Given the description of an element on the screen output the (x, y) to click on. 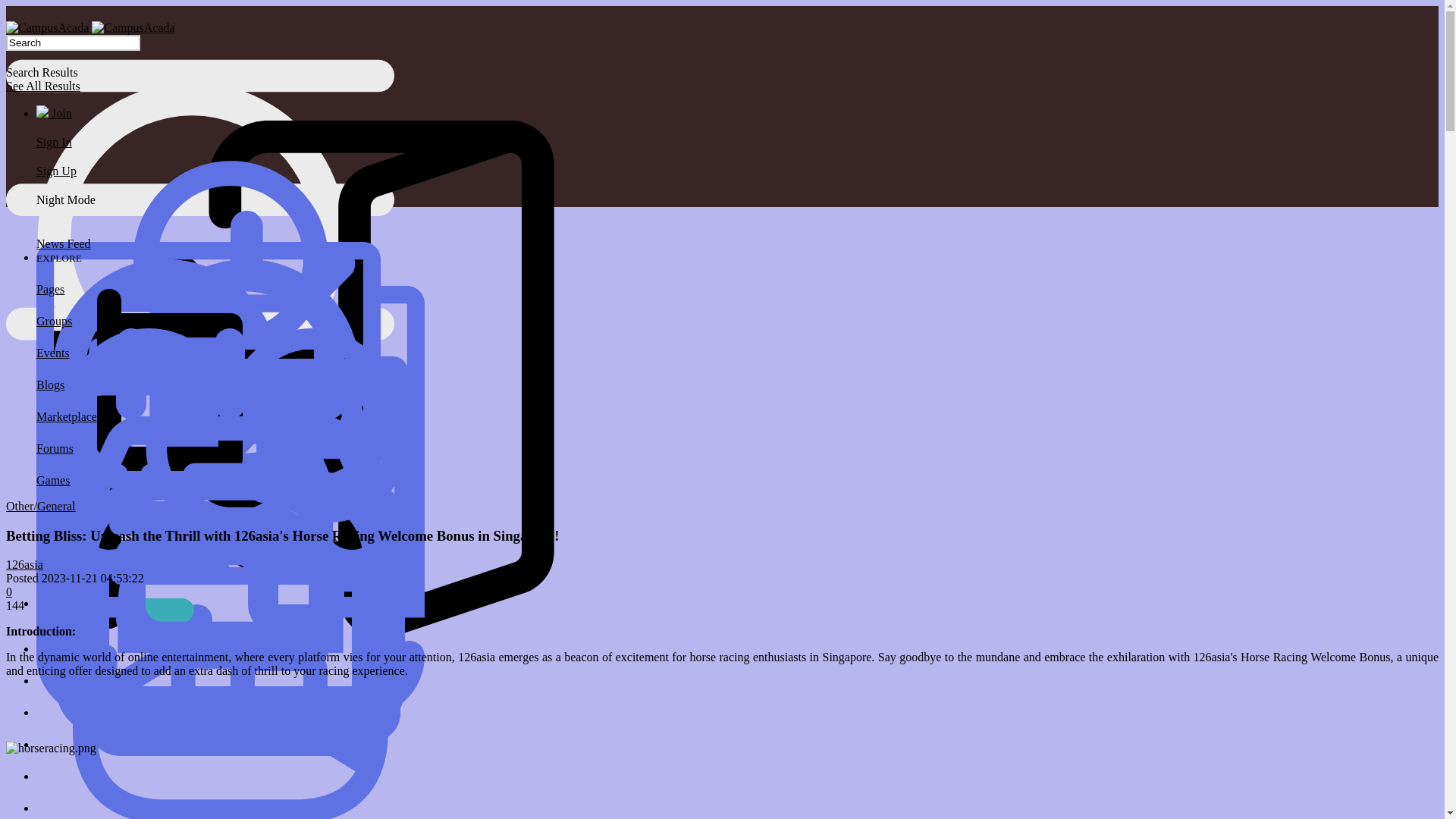
CampusAcada (46, 28)
Join (53, 113)
CampusAcada (132, 28)
126asia (24, 563)
See All Results (42, 85)
